Given the description of an element on the screen output the (x, y) to click on. 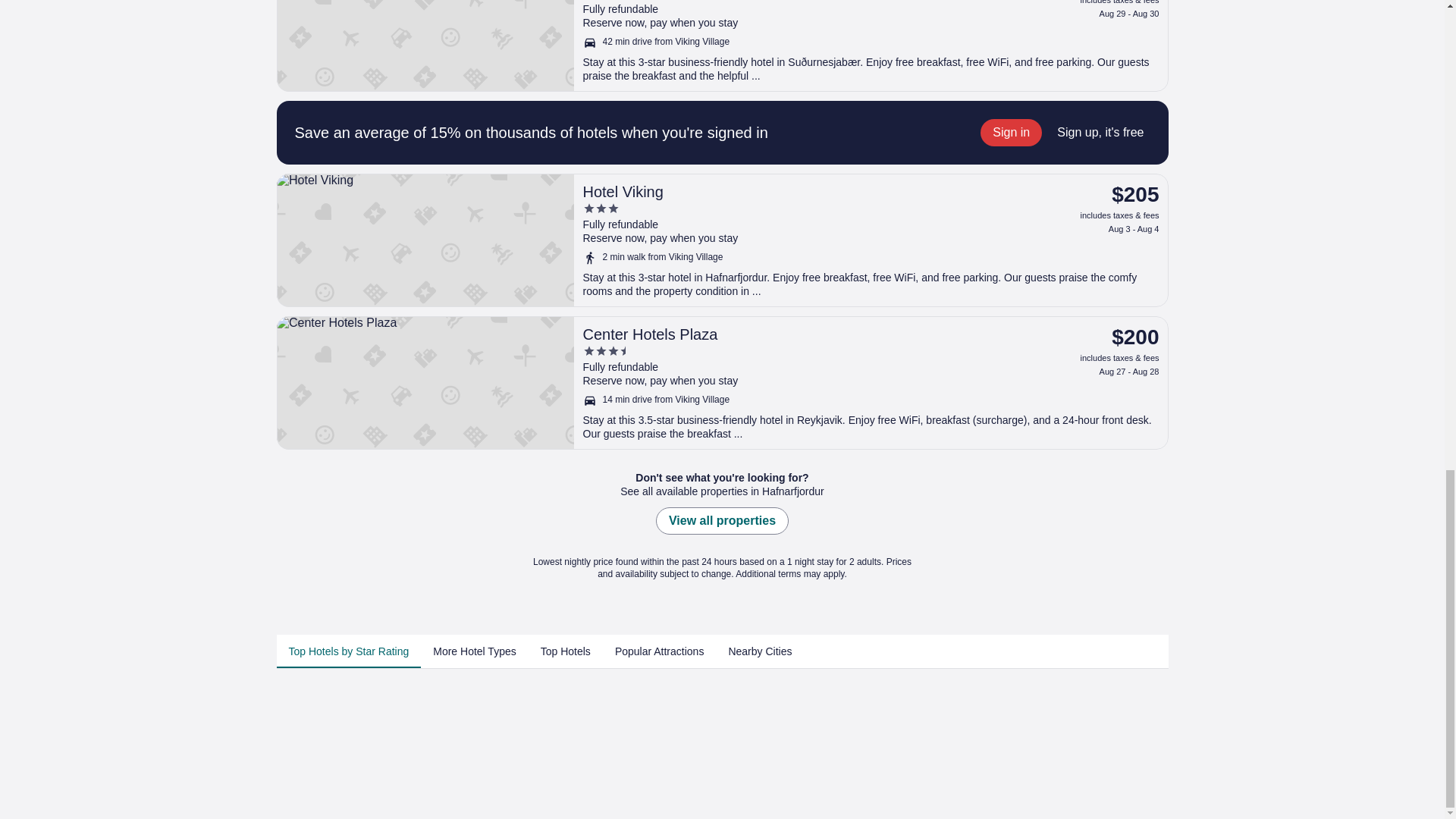
Sign in (1010, 132)
Hotel Viking (721, 240)
Sign up, it's free (1100, 132)
Aurora Hotel at Reykjavik-Keflavik Airport Terminal KEF (721, 45)
Center Hotels Plaza (798, 334)
Center Hotels Plaza (721, 382)
Hotel Viking (798, 191)
